Given the description of an element on the screen output the (x, y) to click on. 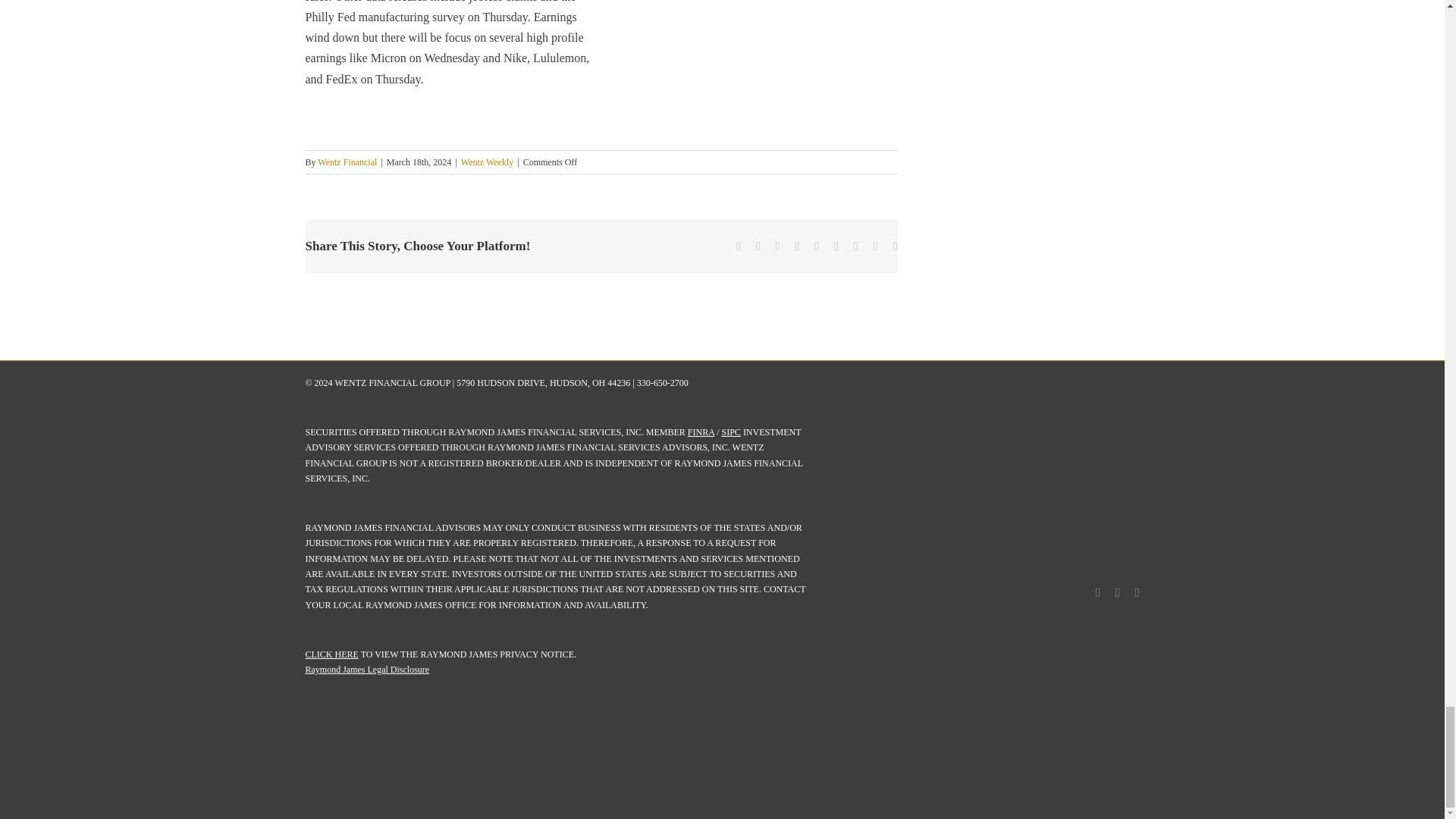
Posts by Wentz Financial (347, 162)
